Given the description of an element on the screen output the (x, y) to click on. 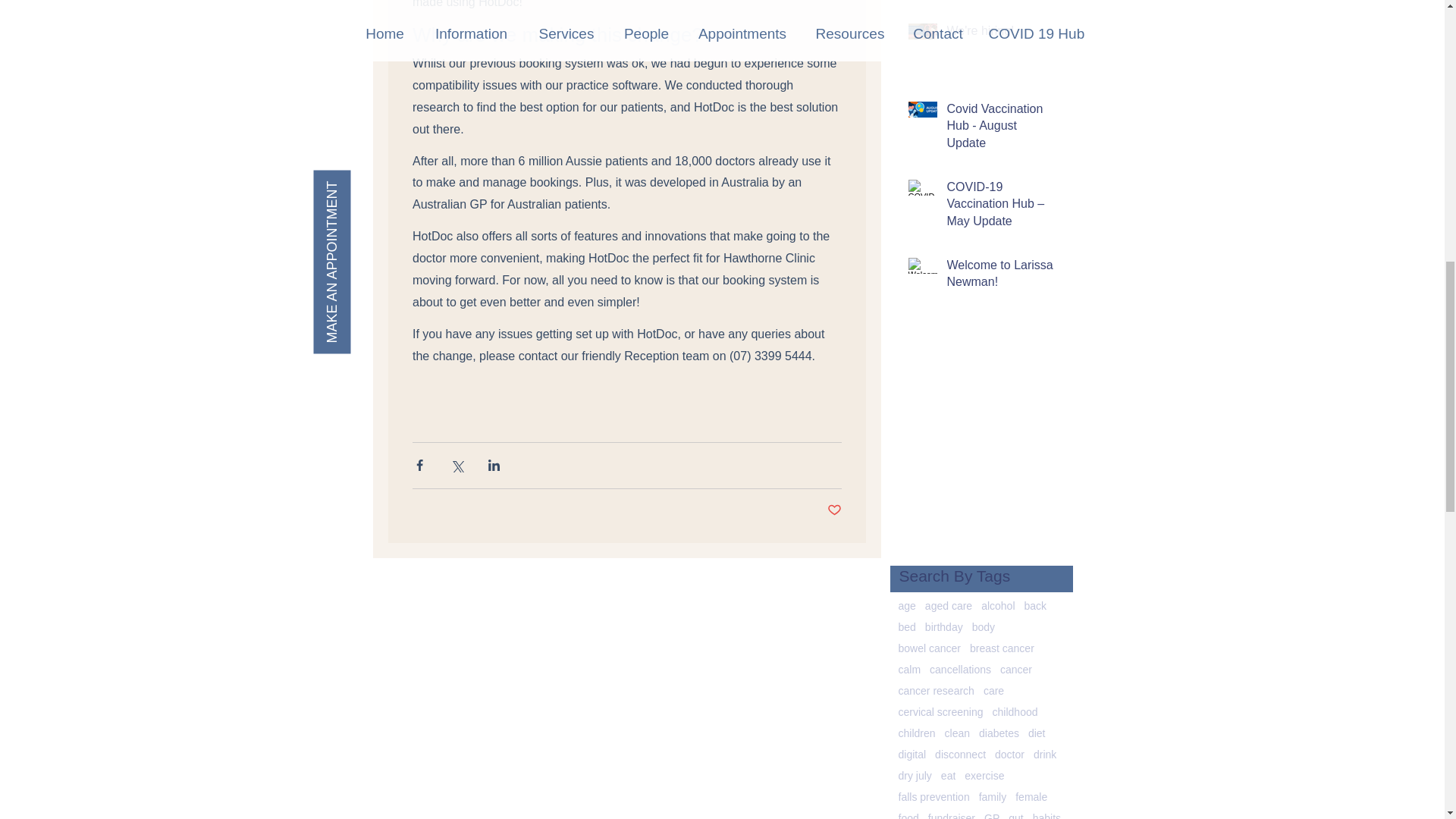
bowel cancer (929, 648)
body (983, 626)
age (906, 605)
Additional GP's Improve Appointment Availability (1000, 0)
Welcome to Larissa Newman! (1000, 277)
back (1035, 605)
bed (906, 626)
Covid Vaccination Hub - August Update (1000, 129)
birthday (943, 626)
alcohol (997, 605)
aged care (948, 605)
We're hiring! (1000, 33)
Post not marked as liked (834, 510)
